Given the description of an element on the screen output the (x, y) to click on. 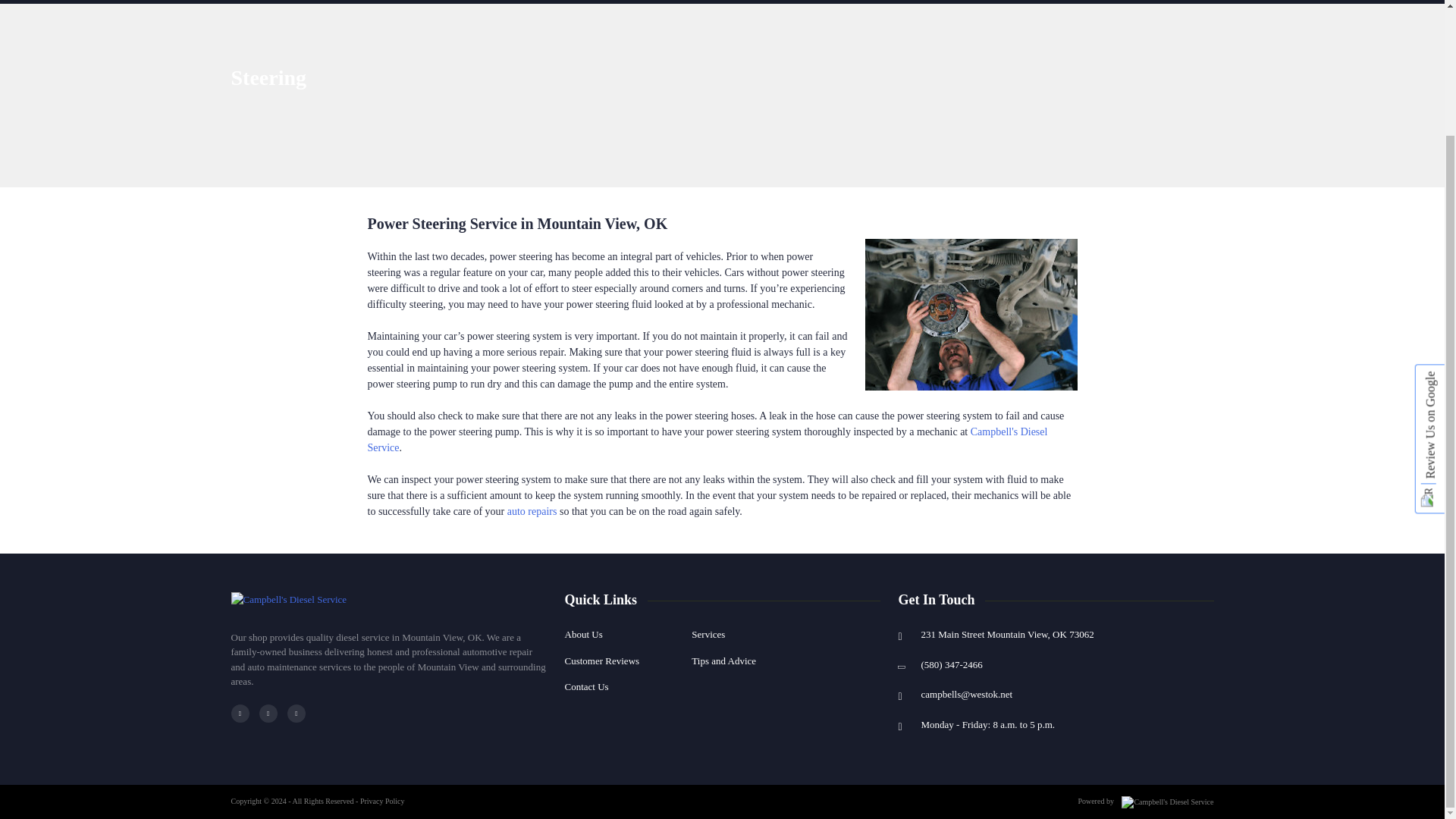
HOME (255, 2)
Powered by RocketLevel (1163, 800)
SERVICES (390, 2)
Campbell's Diesel Service (288, 598)
ABOUT US (318, 2)
